Given the description of an element on the screen output the (x, y) to click on. 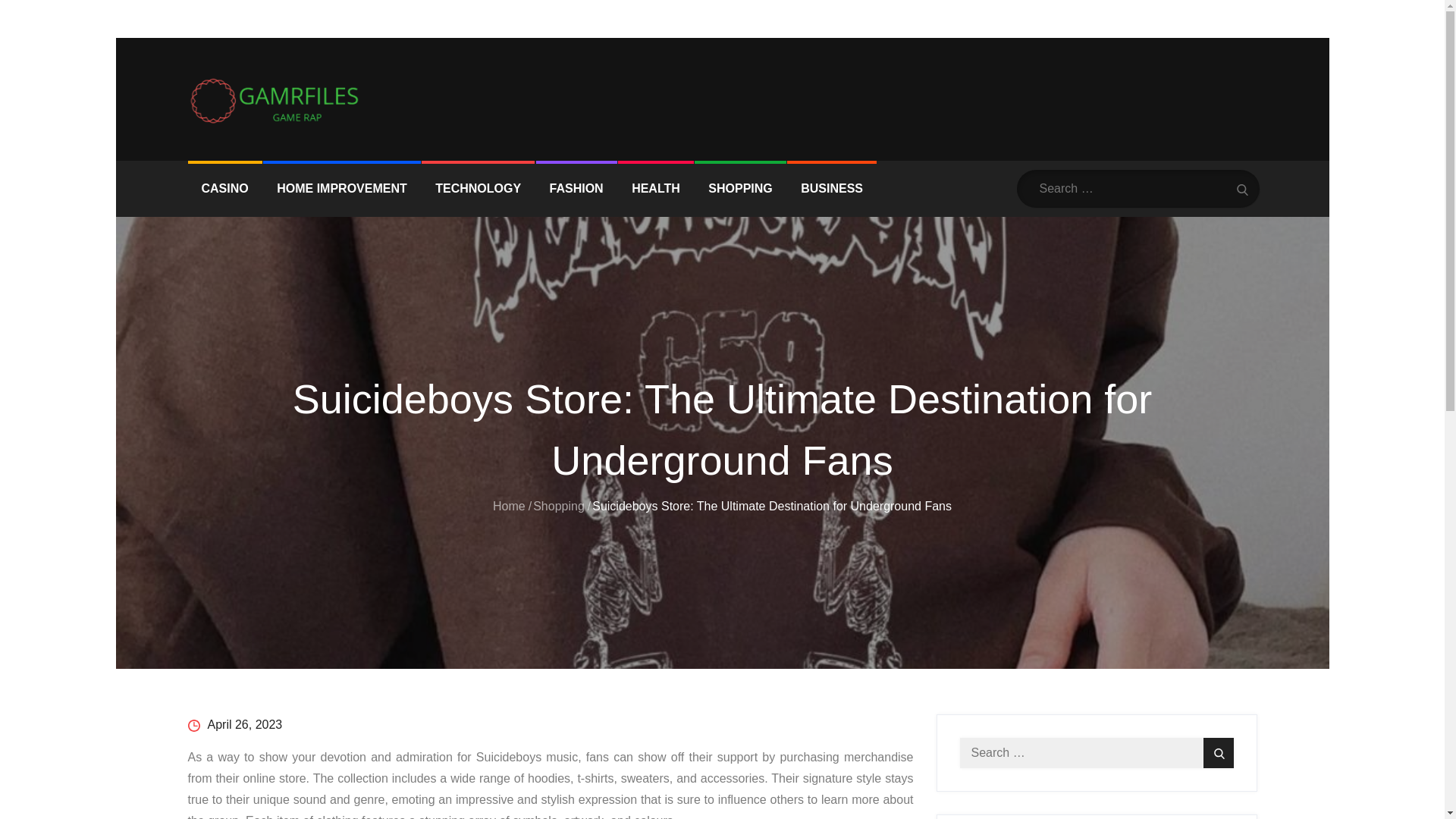
Home (509, 505)
April 26, 2023 (234, 724)
HOME IMPROVEMENT (341, 188)
TECHNOLOGY (478, 188)
CASINO (224, 188)
GAMRFILES (258, 136)
HEALTH (655, 188)
FASHION (576, 188)
SHOPPING (740, 188)
Shopping (558, 505)
BUSINESS (831, 188)
